Given the description of an element on the screen output the (x, y) to click on. 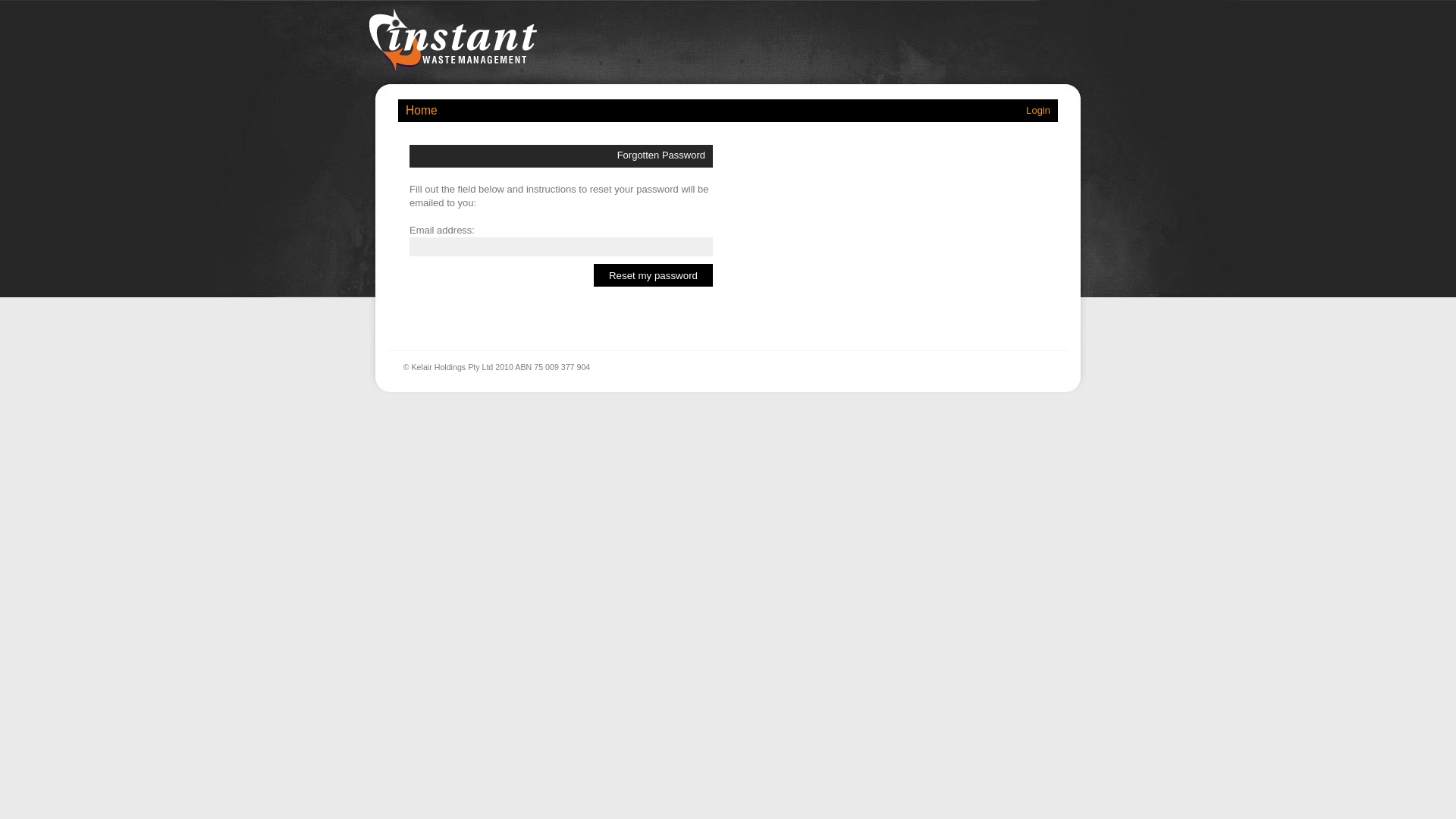
Home Element type: text (421, 109)
Reset my password Element type: text (652, 274)
Login Element type: text (1038, 110)
